Given the description of an element on the screen output the (x, y) to click on. 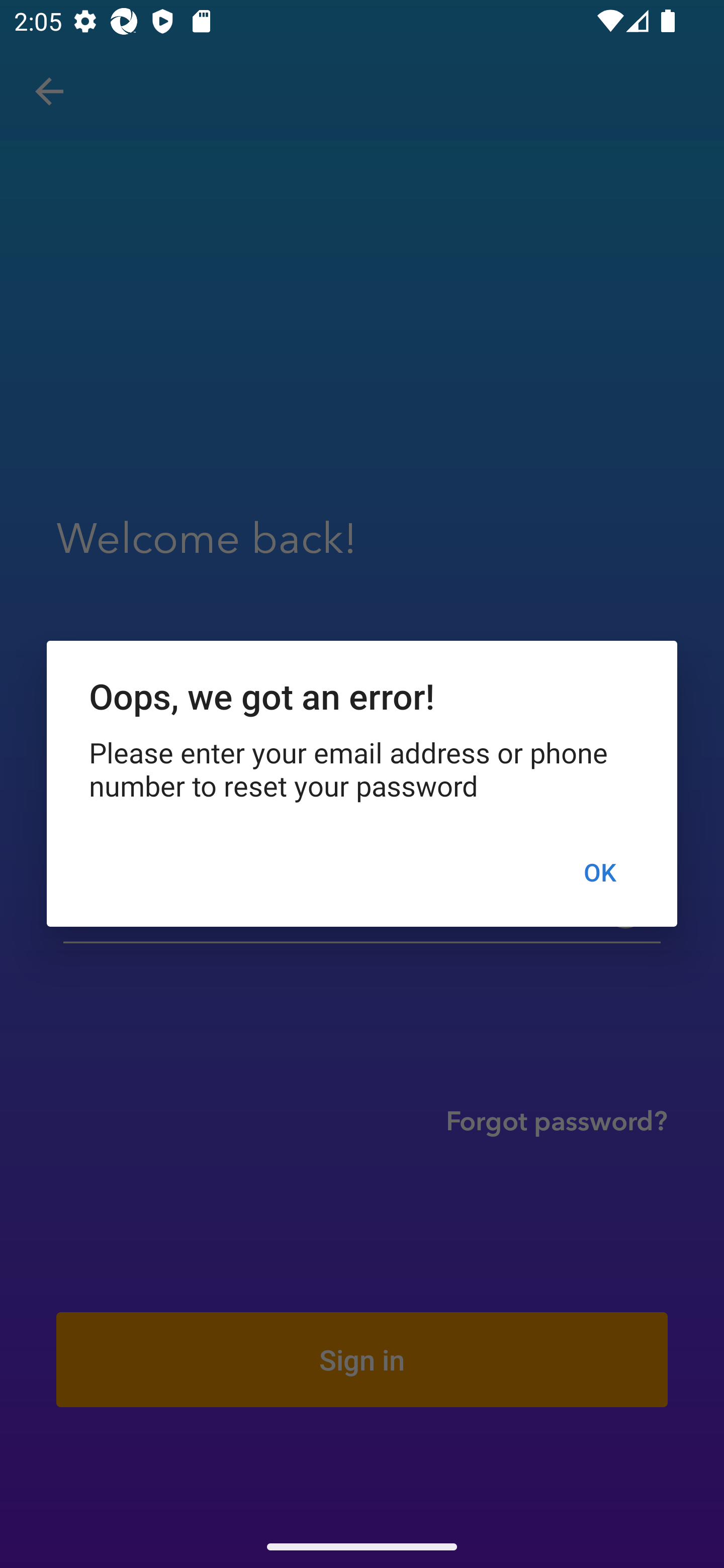
OK (599, 872)
